Given the description of an element on the screen output the (x, y) to click on. 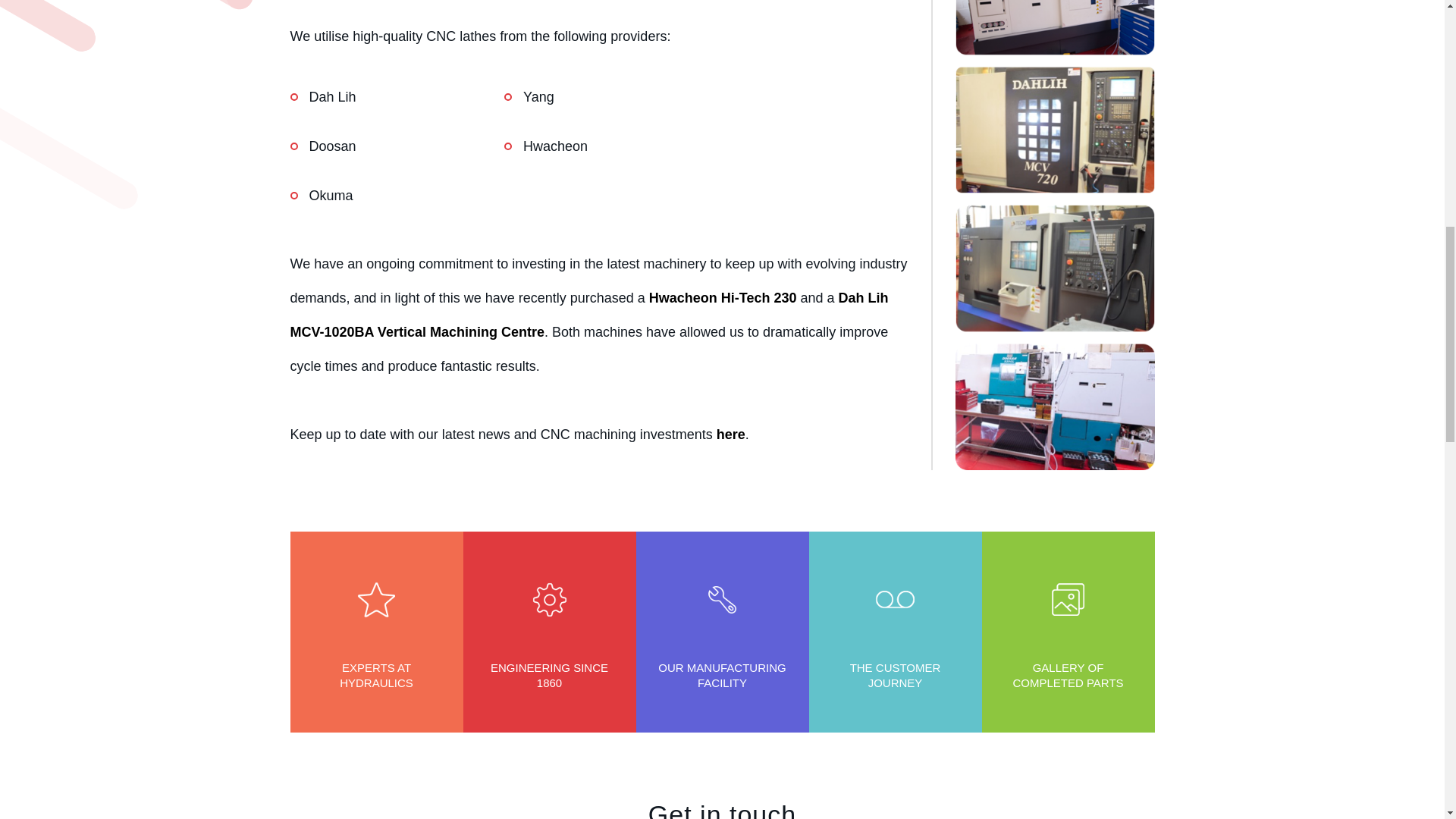
here (730, 434)
Dah Lih MCV-1020BA Vertical Machining Centre (588, 314)
Hwacheon Hi-Tech 230 (722, 297)
